Given the description of an element on the screen output the (x, y) to click on. 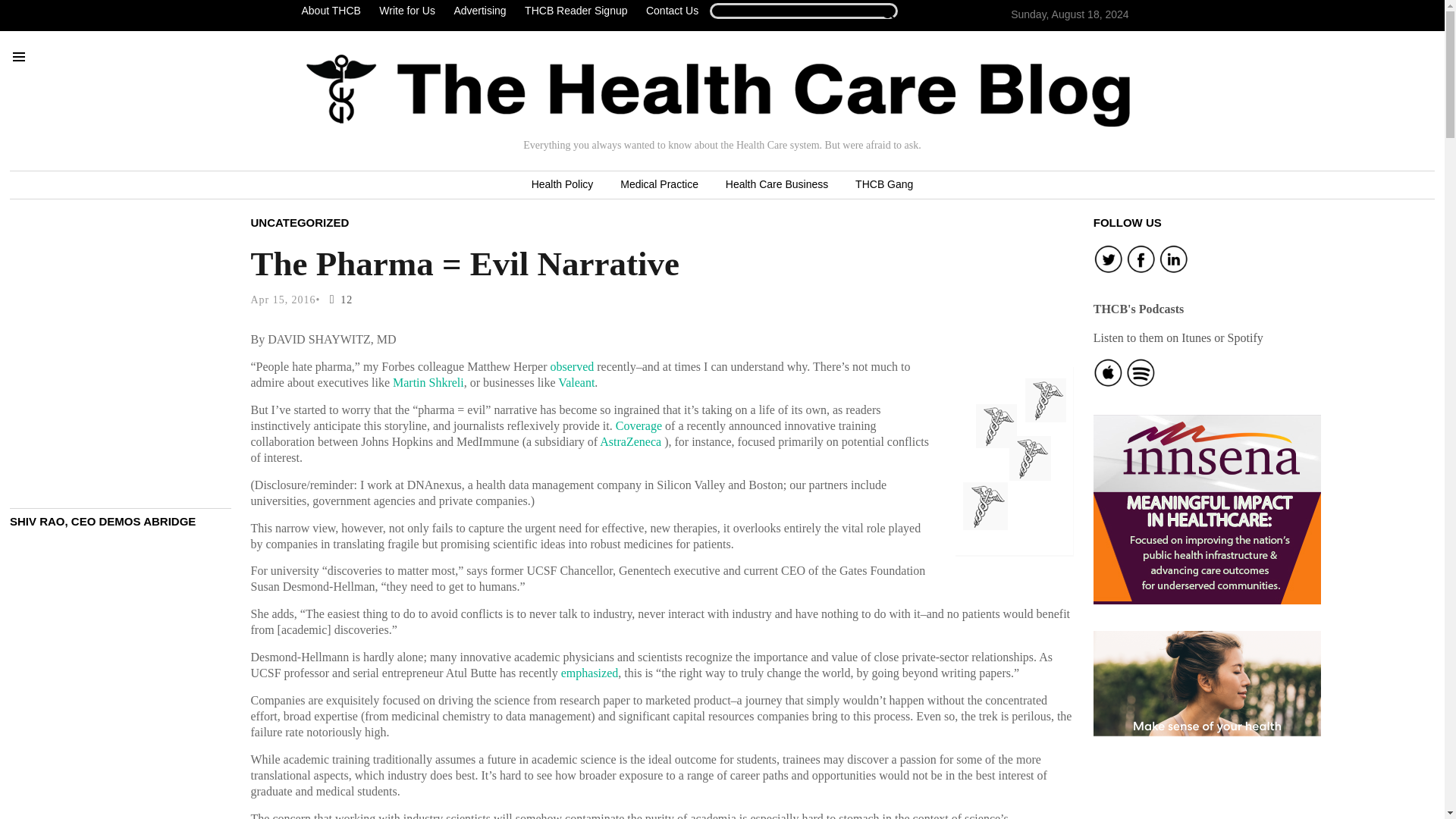
Valeant (575, 382)
Martin Shkreli (428, 382)
12 (337, 299)
Contact Us (672, 10)
Write for Us (406, 10)
emphasized (589, 672)
AstraZeneca (630, 440)
Coverage (638, 425)
Health Policy (562, 184)
THCB Gang (883, 184)
